Given the description of an element on the screen output the (x, y) to click on. 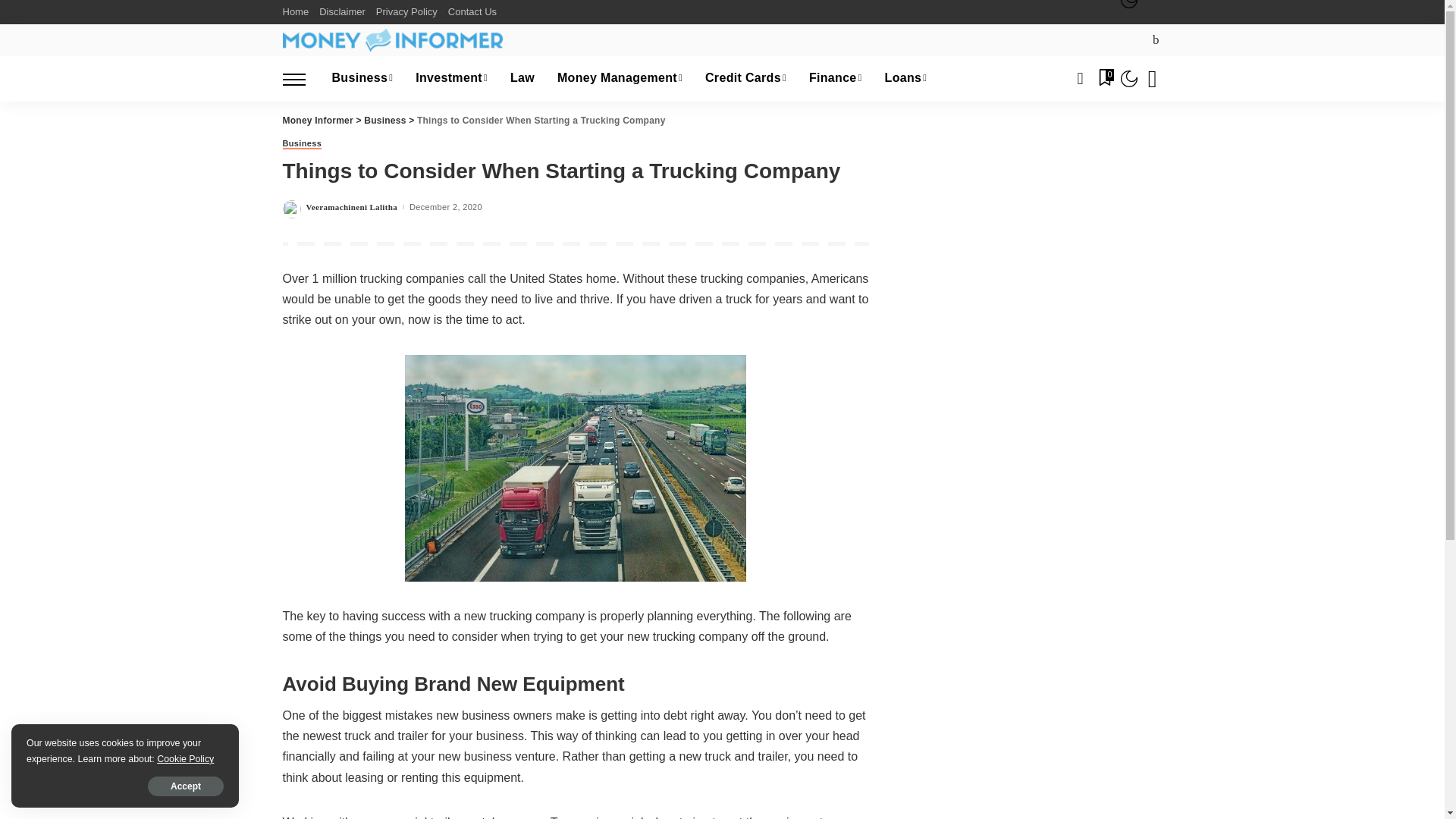
Privacy Policy (406, 11)
Contact Us (472, 11)
Money Informer (392, 39)
Disclaimer (342, 11)
Business (362, 78)
Home (298, 11)
